Given the description of an element on the screen output the (x, y) to click on. 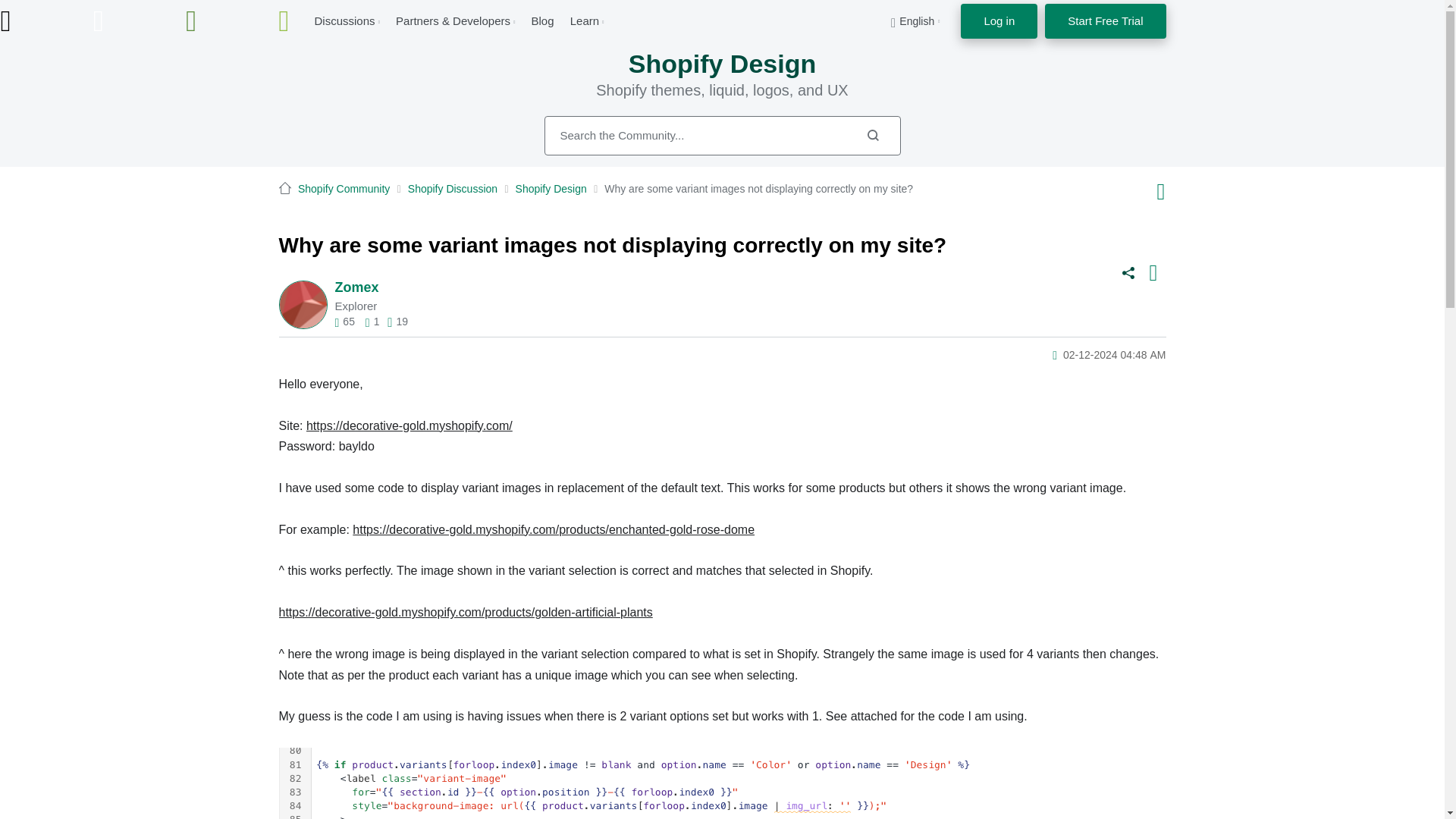
Search (872, 135)
Search (722, 135)
Search (872, 135)
Discussions (344, 20)
